Given the description of an element on the screen output the (x, y) to click on. 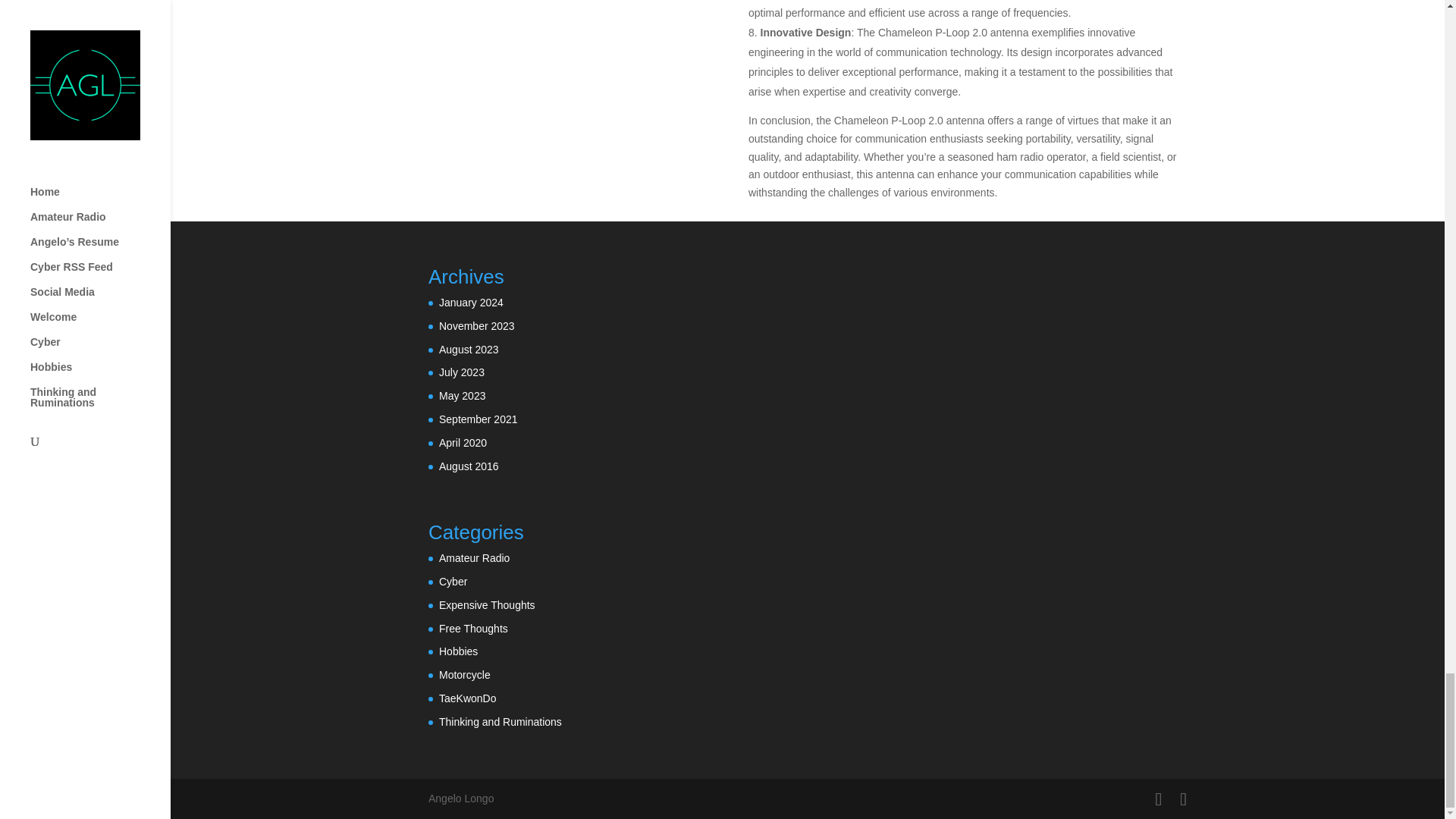
November 2023 (477, 326)
Expensive Thoughts (487, 604)
September 2021 (478, 419)
Amateur Radio (474, 558)
August 2023 (469, 349)
August 2016 (469, 466)
April 2020 (462, 442)
July 2023 (461, 372)
January 2024 (471, 302)
Cyber (453, 581)
